Given the description of an element on the screen output the (x, y) to click on. 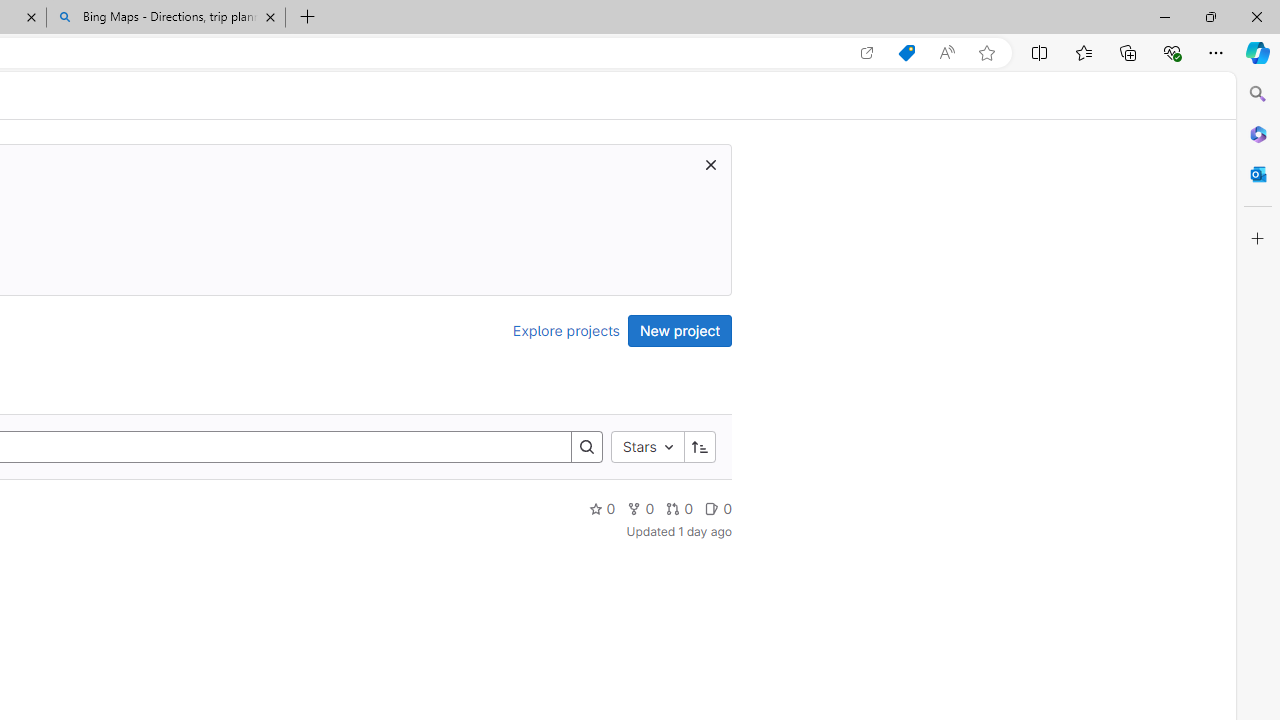
Dismiss trial promotion (710, 164)
Class: s14 gl-mr-2 (712, 508)
Sort direction: Ascending (699, 445)
New project (680, 330)
